Given the description of an element on the screen output the (x, y) to click on. 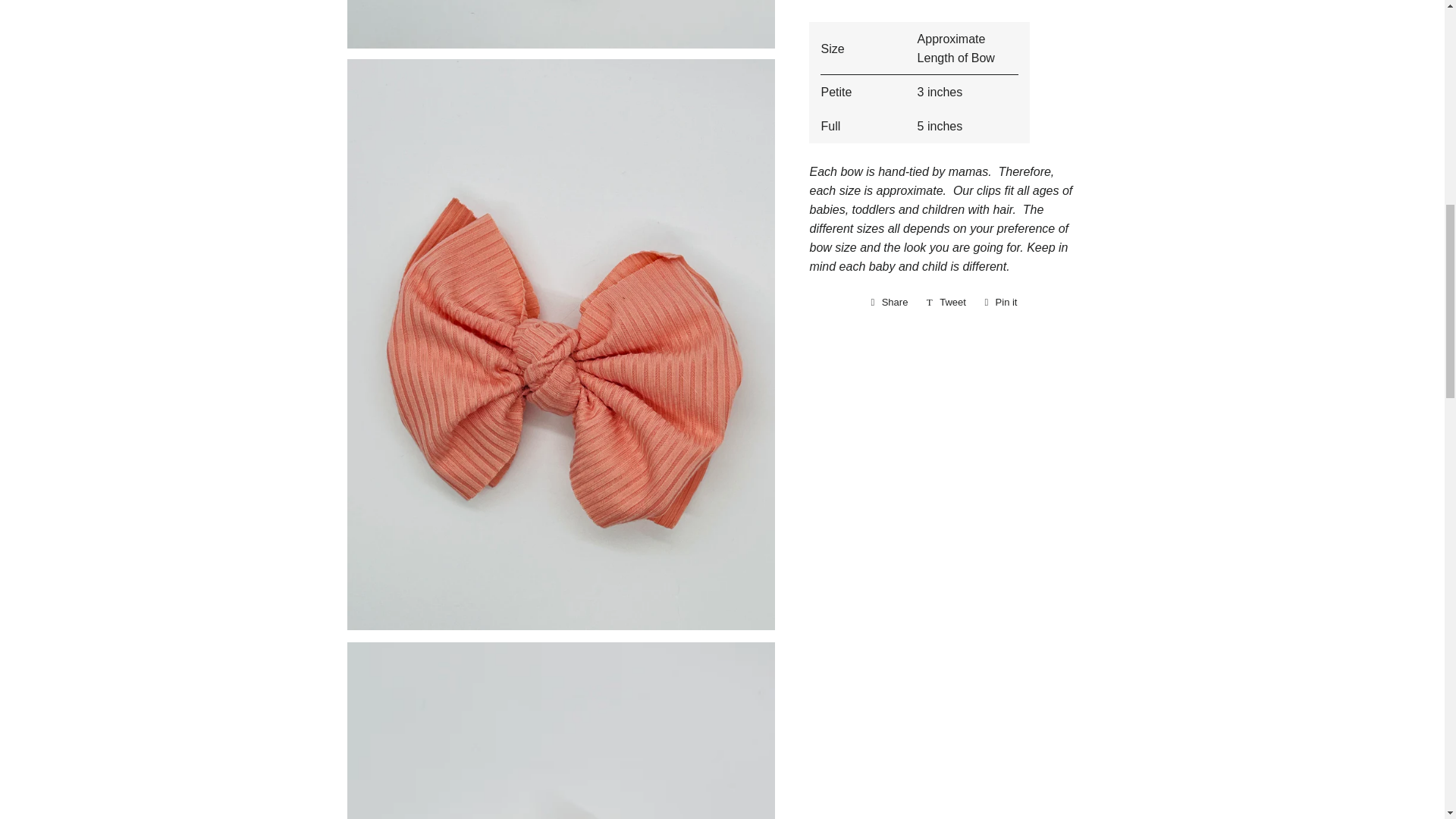
Share on Facebook (889, 302)
Tweet on Twitter (946, 302)
Pin on Pinterest (1000, 302)
